Given the description of an element on the screen output the (x, y) to click on. 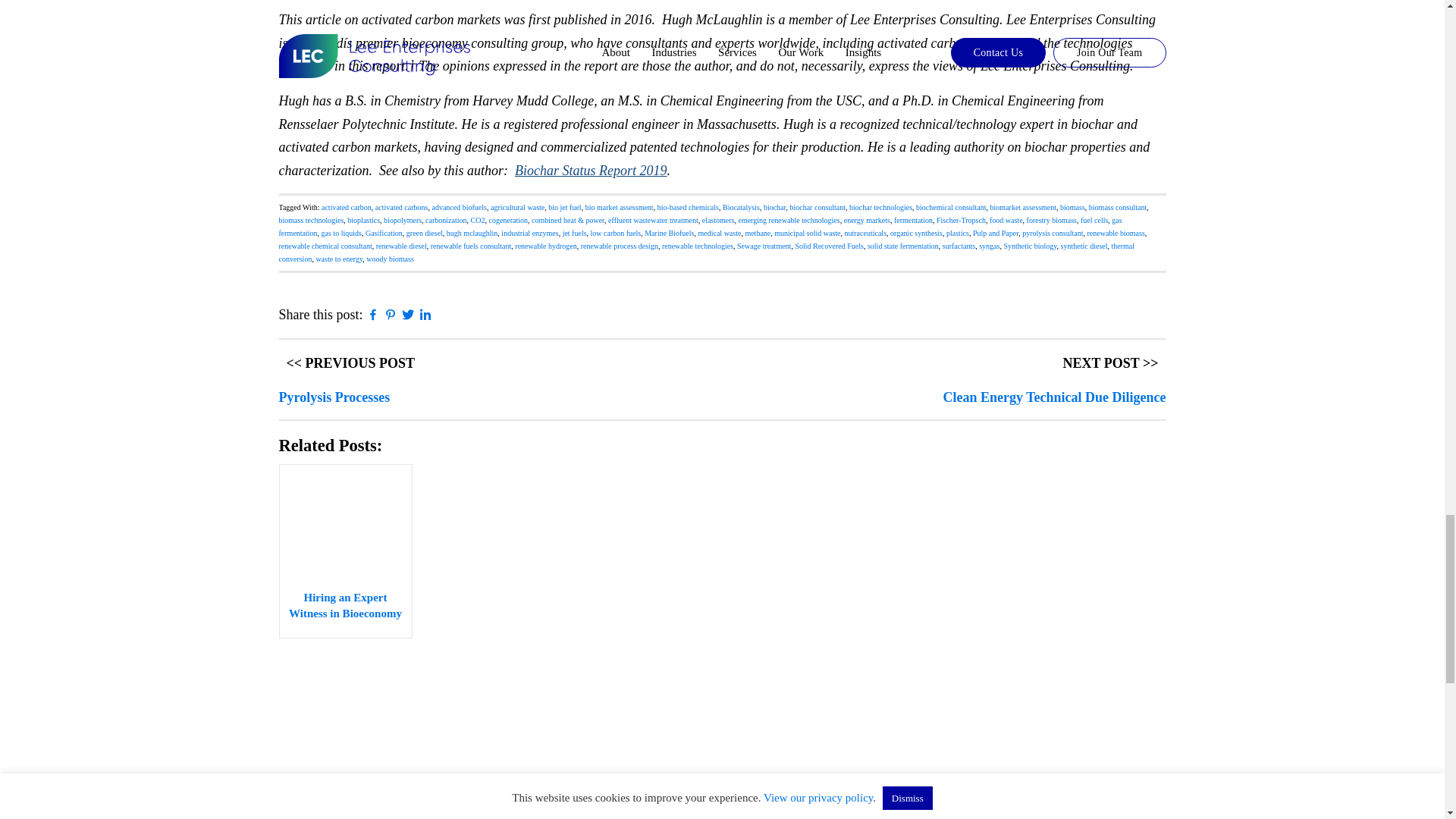
agricultural waste (517, 207)
Biochar Status Report 2019 (590, 170)
activated carbons (401, 207)
Pin on Pinterest (390, 316)
activated carbon (346, 207)
Share on Linkedin (425, 316)
advanced biofuels (458, 207)
Share on Facebook (373, 316)
Share on Twitter (407, 316)
bio jet fuel (564, 207)
